Given the description of an element on the screen output the (x, y) to click on. 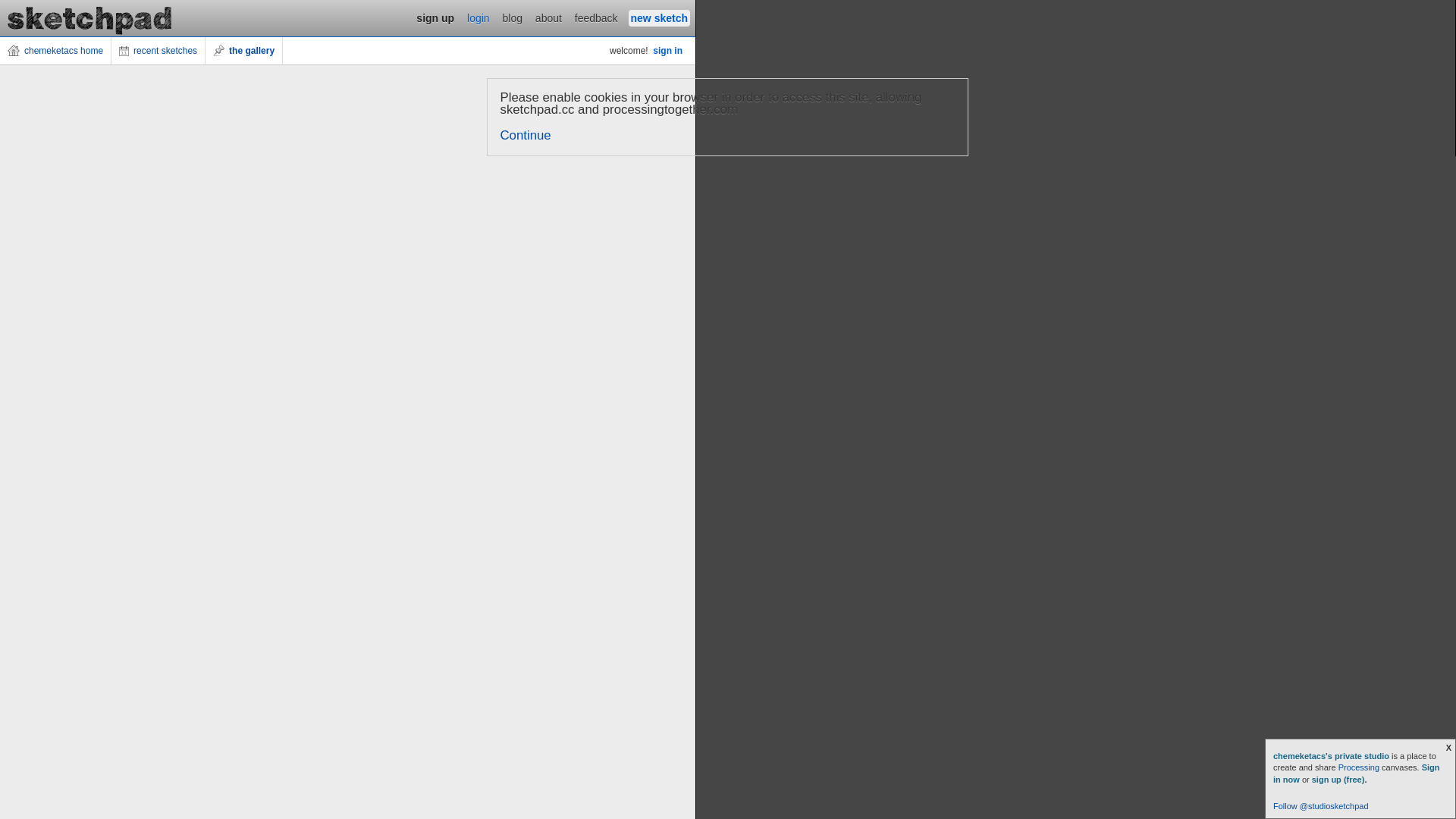
Follow @studiosketchpad Element type: text (1320, 805)
the gallery Element type: text (243, 50)
Sign in now Element type: text (1356, 772)
about Element type: text (548, 17)
new sketch Element type: text (659, 17)
login Element type: text (478, 17)
Studio Sketchpad is Processing on Etherpad Element type: hover (90, 18)
chemeketacs home Element type: text (55, 50)
sign up Element type: text (435, 17)
sign in Element type: text (667, 50)
Continue Element type: text (525, 135)
sign up (free) Element type: text (1338, 779)
Processing Element type: text (1358, 766)
chemeketacs's private studio Element type: text (1332, 755)
blog Element type: text (512, 17)
feedback Element type: text (596, 17)
recent sketches Element type: text (158, 50)
